Given the description of an element on the screen output the (x, y) to click on. 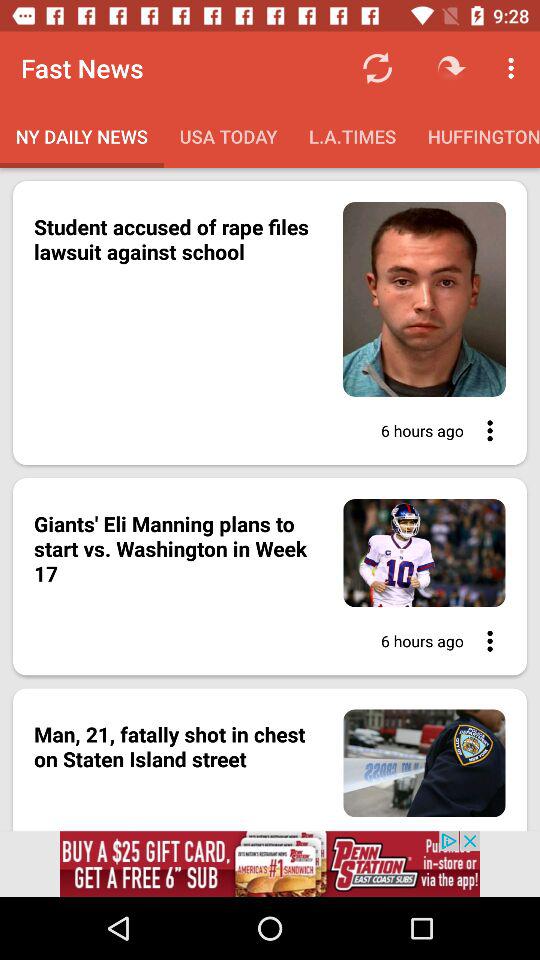
open setting (484, 430)
